Given the description of an element on the screen output the (x, y) to click on. 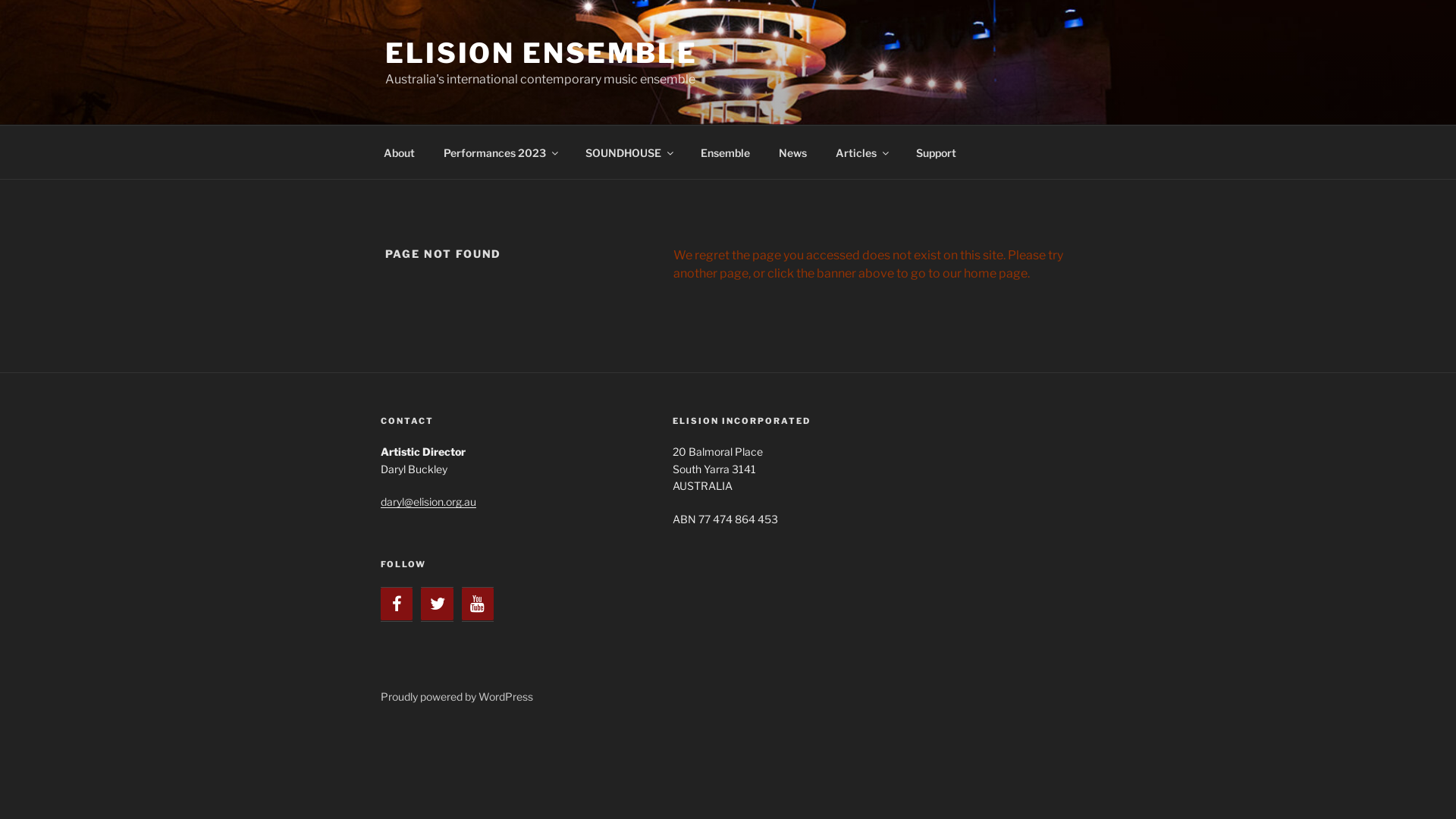
daryl@elision.org.au Element type: text (428, 501)
Ensemble Element type: text (724, 151)
News Element type: text (792, 151)
Performances 2023 Element type: text (499, 151)
Proudly powered by WordPress Element type: text (456, 696)
ELISION ENSEMBLE Element type: text (541, 52)
SOUNDHOUSE Element type: text (627, 151)
Support Element type: text (935, 151)
About Element type: text (398, 151)
Articles Element type: text (861, 151)
